Given the description of an element on the screen output the (x, y) to click on. 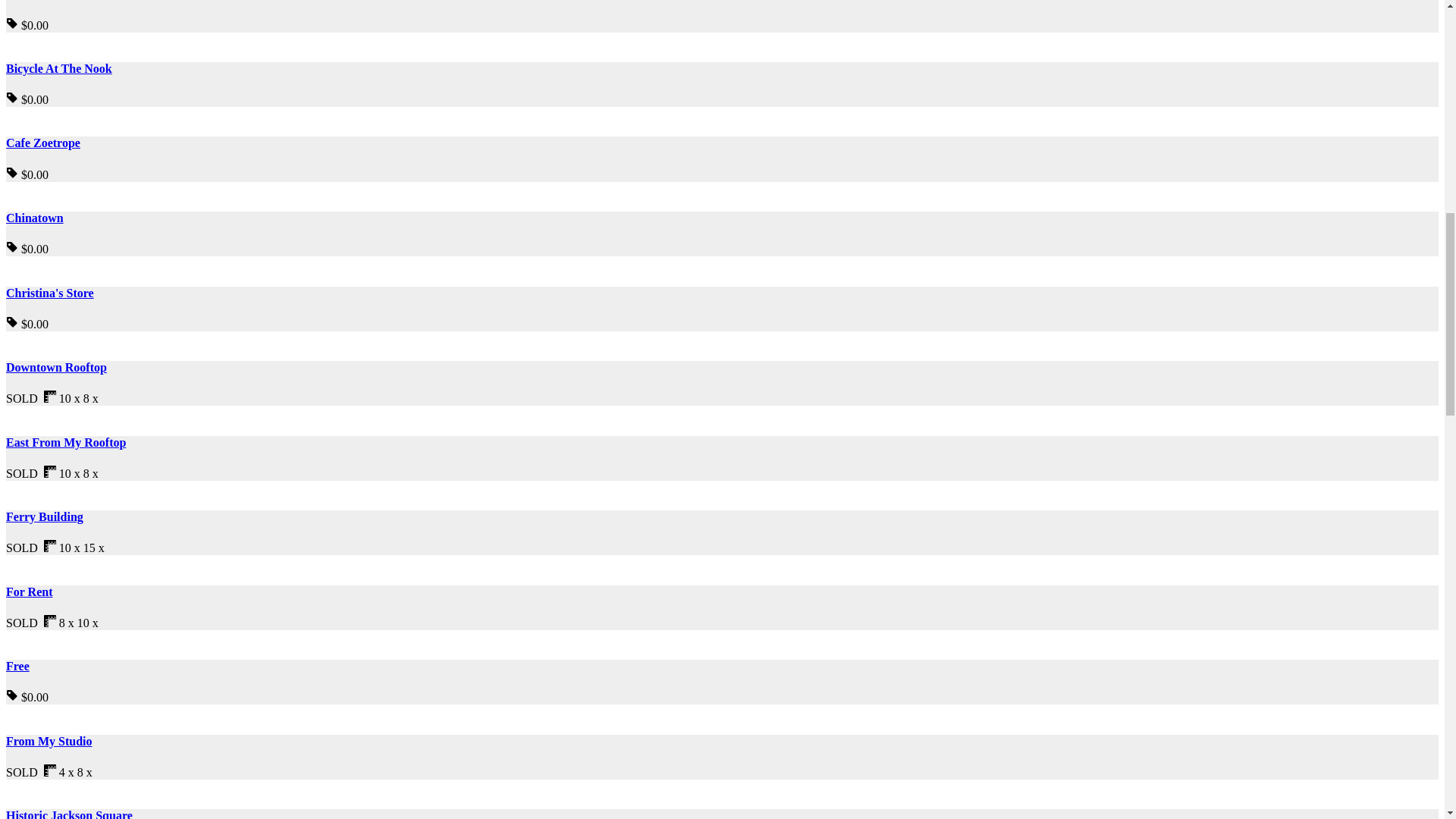
Cafe Zoetrope (42, 142)
Chinatown (34, 217)
Ferry Building (43, 516)
Bicycle At The Nook (58, 68)
East From My Rooftop (65, 441)
Christina's Store (49, 292)
Downtown Rooftop (55, 367)
